Given the description of an element on the screen output the (x, y) to click on. 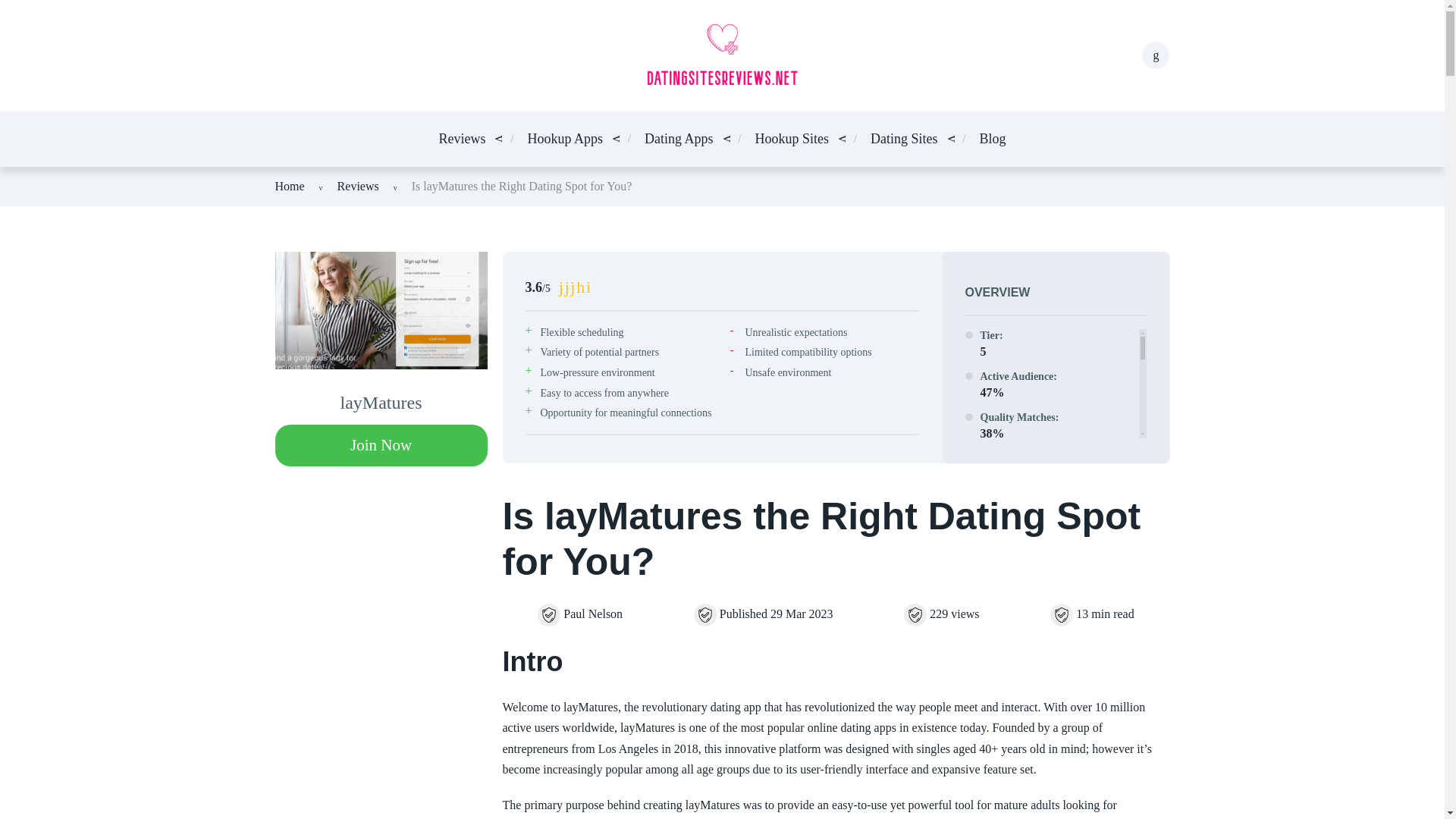
Is layMatures the Right Dating Spot for You? (521, 185)
Reviews (357, 185)
Reviews (461, 138)
Home (289, 185)
